Given the description of an element on the screen output the (x, y) to click on. 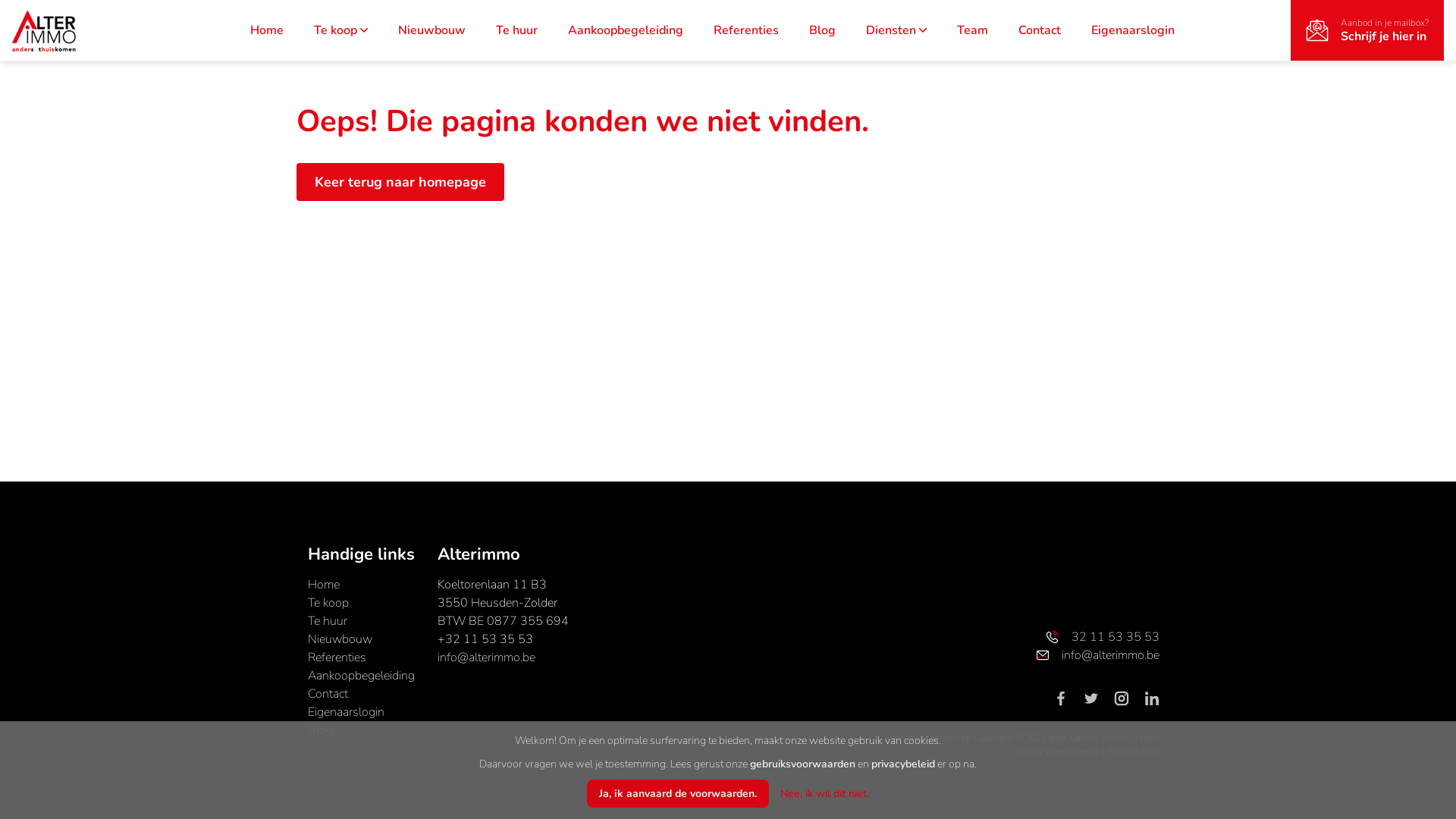
Twitter Element type: text (1096, 697)
Proxio Element type: text (1147, 737)
Te koop Element type: text (327, 602)
Keer terug naar homepage Element type: text (400, 181)
Aanbod in je mailbox?
Schrijf je hier in Element type: text (1366, 30)
info@alterimmo.be Element type: text (1022, 655)
Aankoopbegeleiding Element type: text (624, 29)
Team Element type: text (972, 29)
Ja, ik aanvaard de voorwaarden. Element type: text (677, 793)
gebruiksvoorwaarden Element type: text (802, 763)
32 11 53 35 53 Element type: text (1022, 636)
Eigenaarslogin Element type: text (1131, 29)
Nieuwbouw Element type: text (430, 29)
Zabun Element type: text (1081, 737)
Te huur Element type: text (516, 29)
info@alterimmo.be Element type: text (486, 657)
Contact Element type: text (1038, 29)
Eigenaarslogin Element type: text (345, 711)
Nee, ik wil dit niet. Element type: text (824, 793)
Nieuwbouw Element type: text (339, 638)
Home Element type: text (323, 584)
Te koop Element type: text (340, 30)
Referenties Element type: text (745, 29)
Home Element type: text (266, 29)
Instagram Element type: text (1127, 697)
Diensten Element type: text (896, 30)
Blog Element type: text (319, 729)
privacybeleid Element type: text (903, 763)
Te huur Element type: text (327, 620)
Aankoopbegeleiding Element type: text (360, 675)
Referenties Element type: text (336, 657)
Contact Element type: text (327, 693)
Gebruiksvoorwaarden Element type: text (1057, 751)
Linkedin Element type: text (1151, 697)
Zimmo Element type: text (1114, 737)
Blog Element type: text (821, 29)
Facebook Element type: text (1066, 697)
Privacybeleid Element type: text (1133, 751)
